Given the description of an element on the screen output the (x, y) to click on. 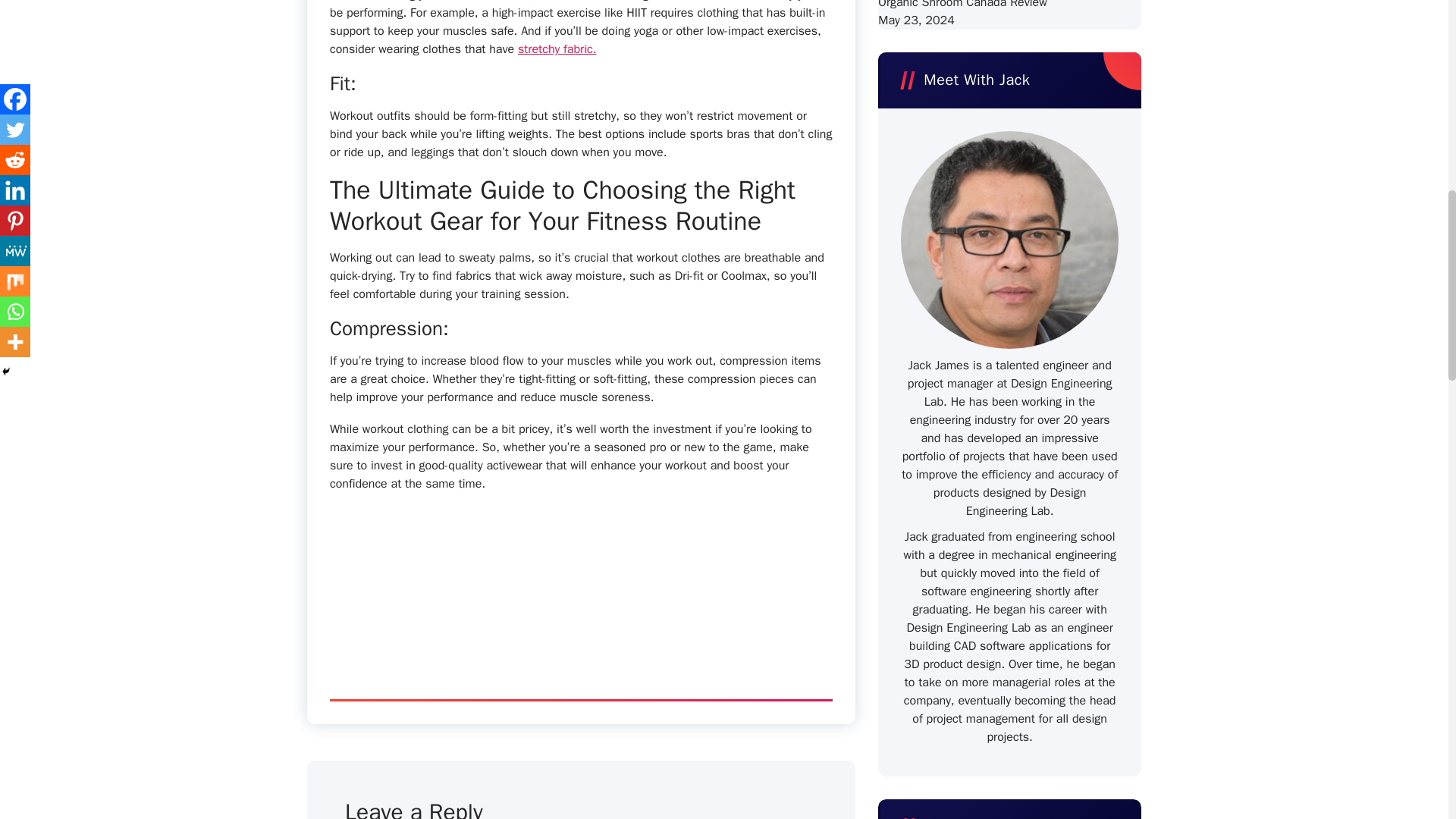
stretchy fabric. (557, 48)
